Given the description of an element on the screen output the (x, y) to click on. 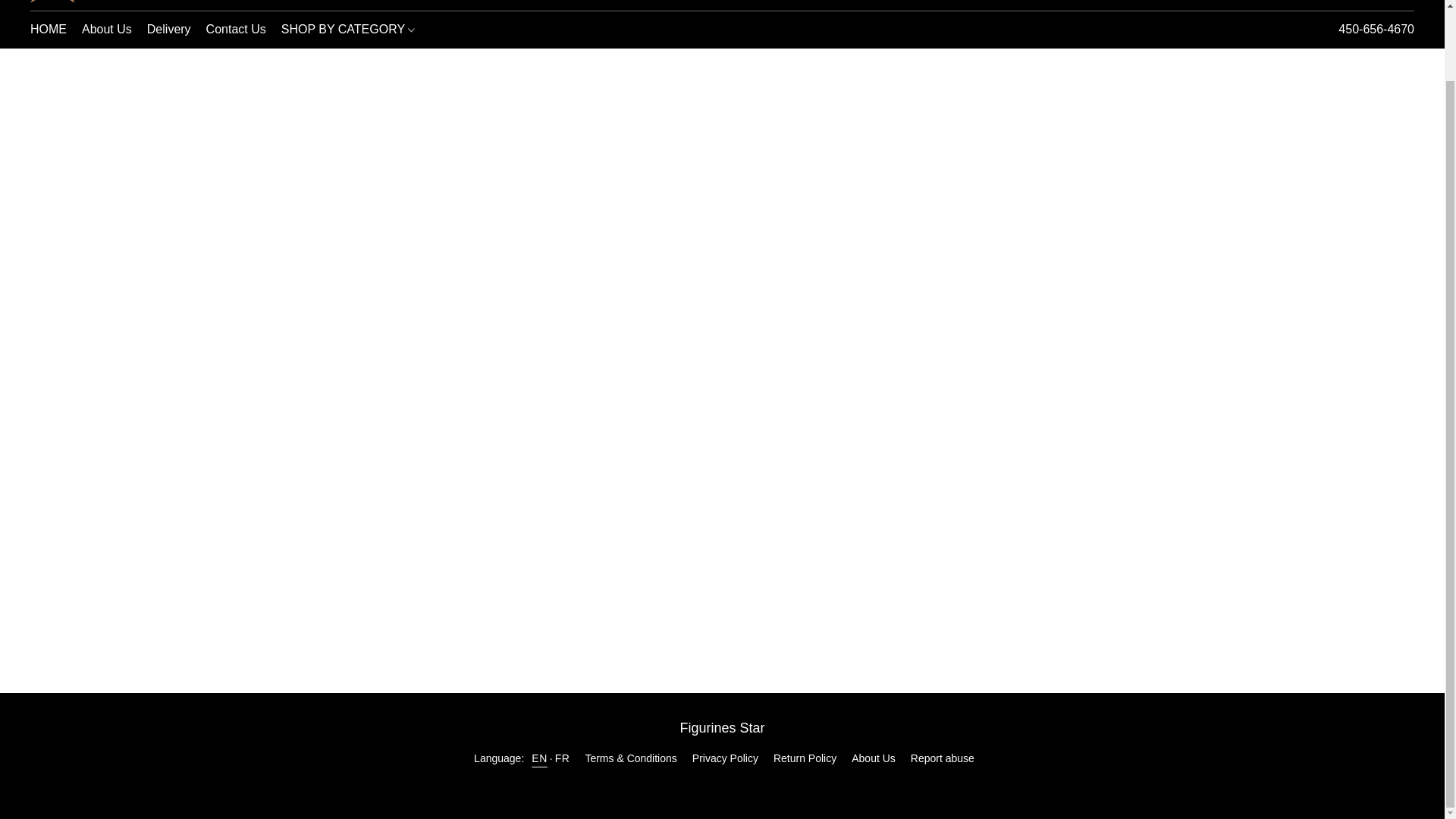
Delivery (168, 29)
Privacy Policy (725, 758)
Contact Us (235, 29)
About Us (722, 785)
HOME (106, 29)
Return Policy (52, 29)
About Us (804, 758)
Report abuse (873, 758)
SHOP BY CATEGORY (942, 758)
